Given the description of an element on the screen output the (x, y) to click on. 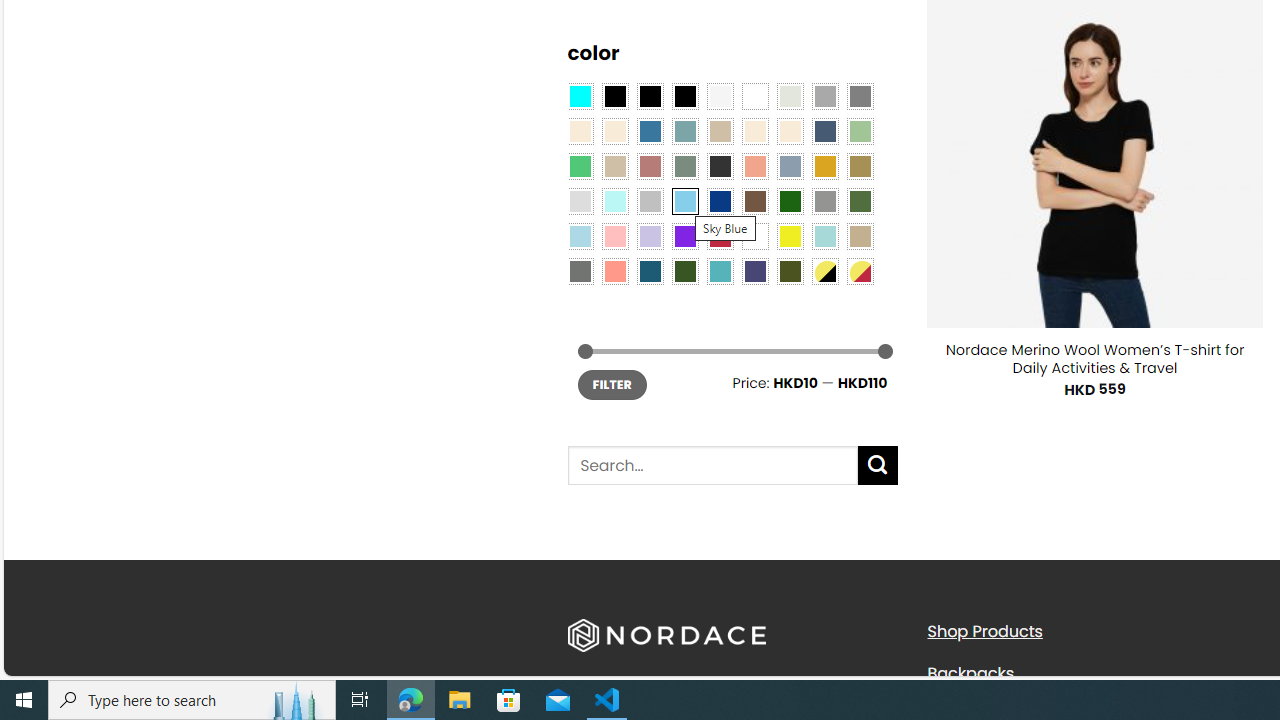
Yellow-Red (859, 270)
Rose (650, 165)
Beige-Brown (614, 131)
Gray (824, 200)
Brown (755, 200)
Light Green (859, 131)
Silver (650, 200)
Aqua Blue (579, 95)
Sage (684, 165)
Dark Green (789, 200)
Sky Blue (684, 200)
Black-Brown (684, 95)
Forest (684, 270)
Yellow-Black (824, 270)
Light Gray (579, 200)
